Given the description of an element on the screen output the (x, y) to click on. 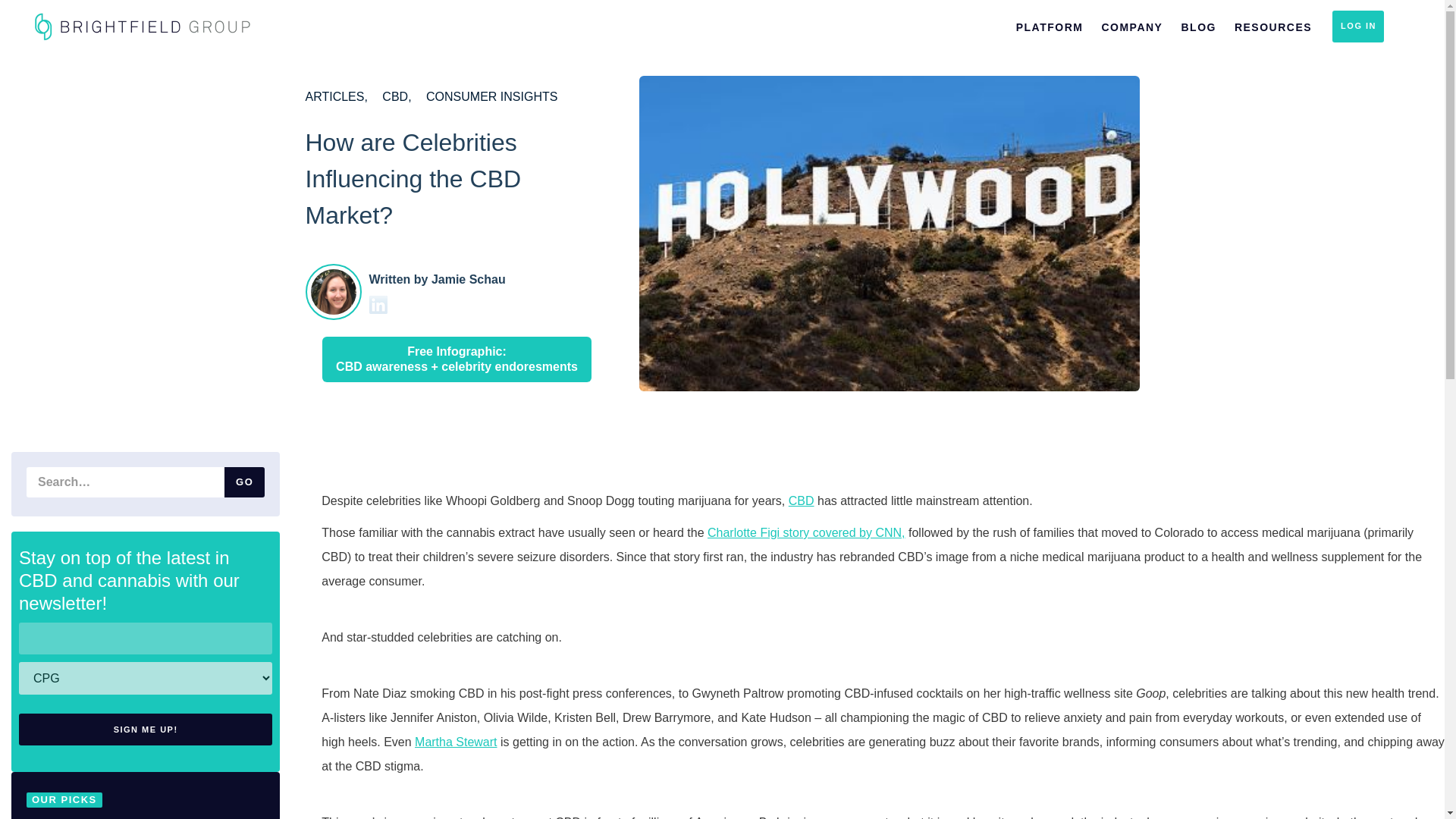
BLOG (1198, 26)
CBD (395, 96)
ARTICLES (335, 96)
Go (244, 481)
CONSUMER INSIGHTS (491, 96)
Sign me up! (145, 729)
LOG IN (1358, 26)
Go (244, 481)
COMPANY (1131, 26)
RESOURCES (1272, 26)
